Given the description of an element on the screen output the (x, y) to click on. 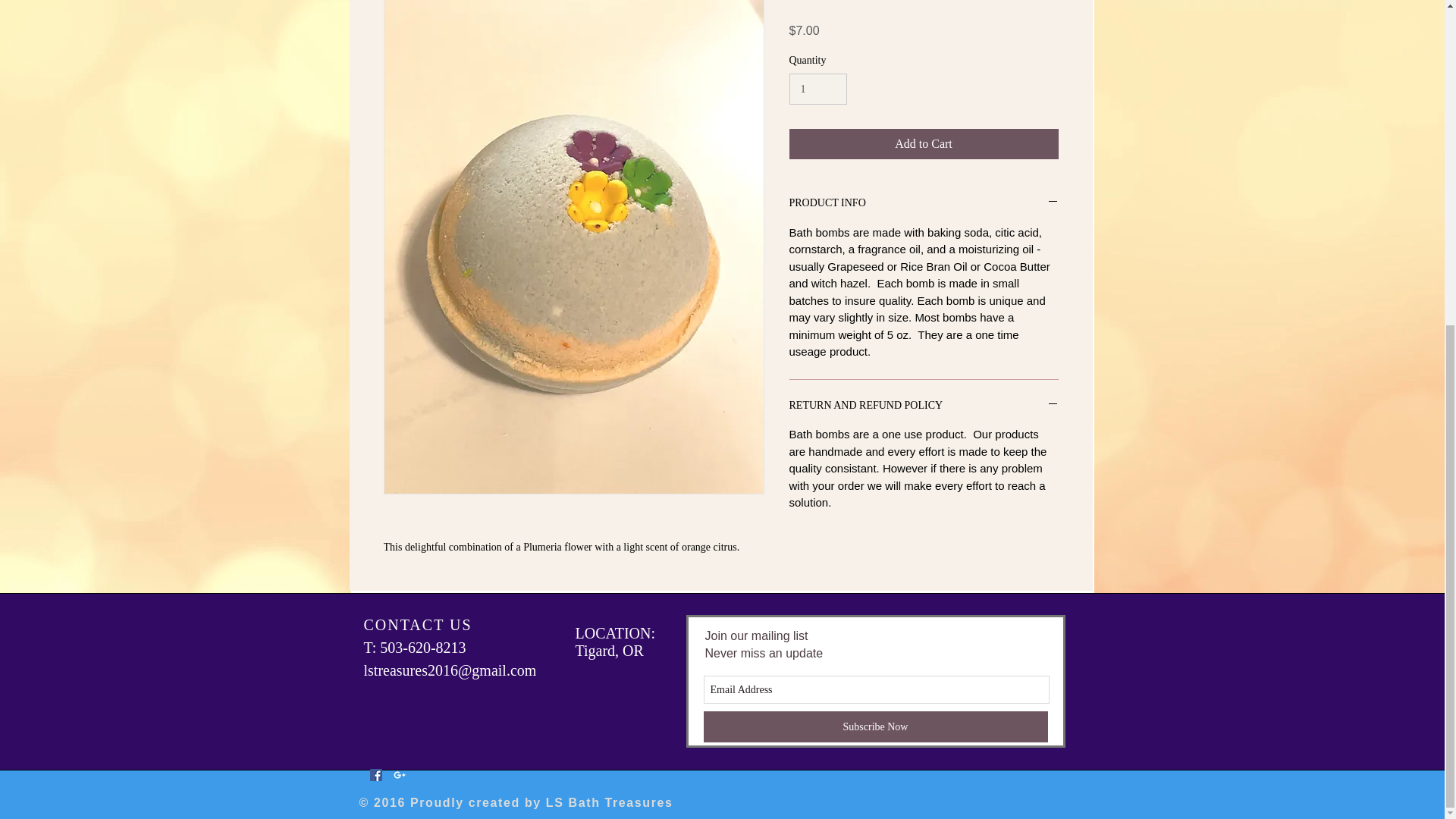
Add to Cart (923, 143)
RETURN AND REFUND POLICY (923, 406)
PRODUCT INFO (923, 203)
1 (817, 88)
Subscribe Now (875, 726)
